Given the description of an element on the screen output the (x, y) to click on. 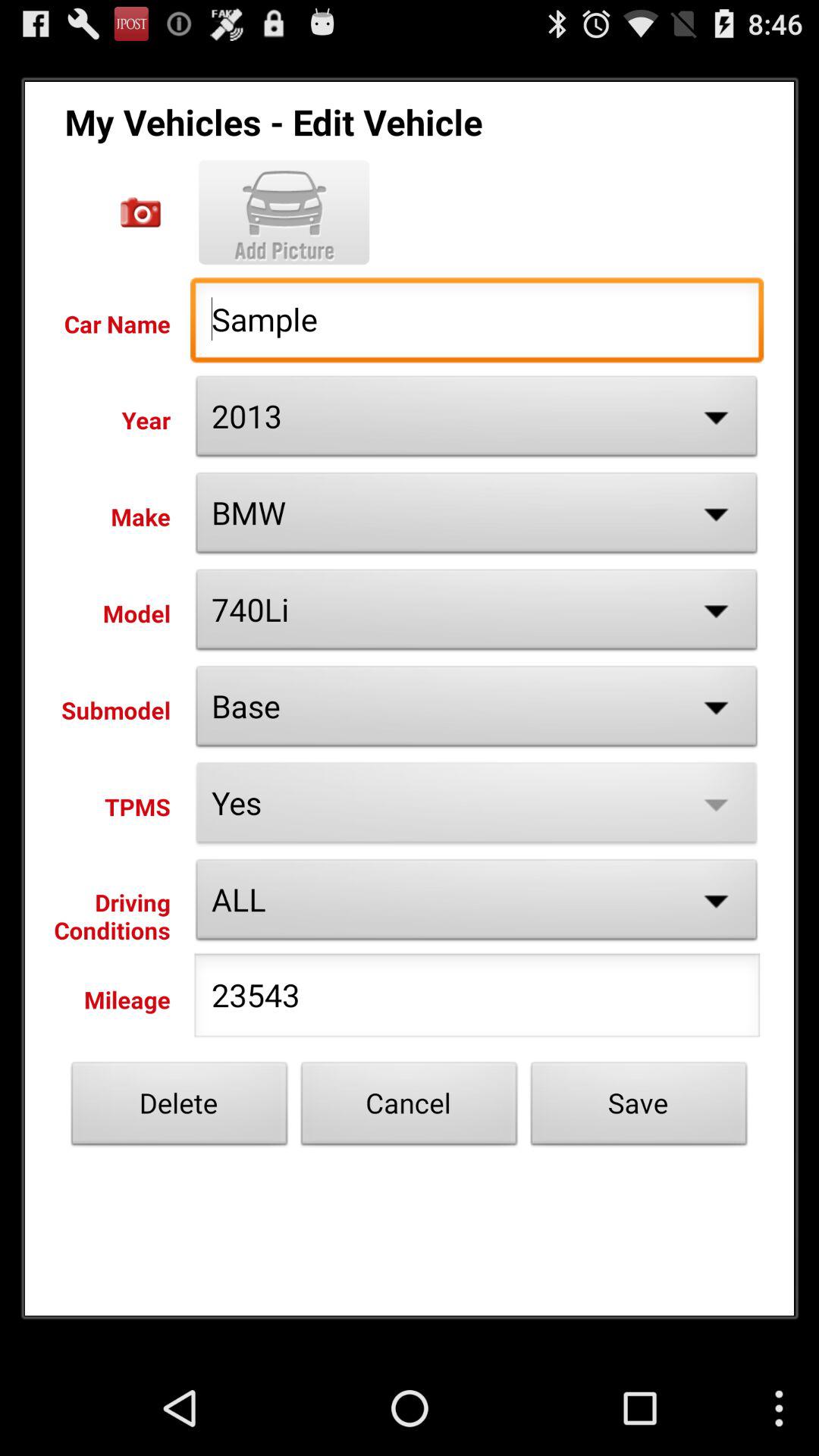
add picture (283, 212)
